Given the description of an element on the screen output the (x, y) to click on. 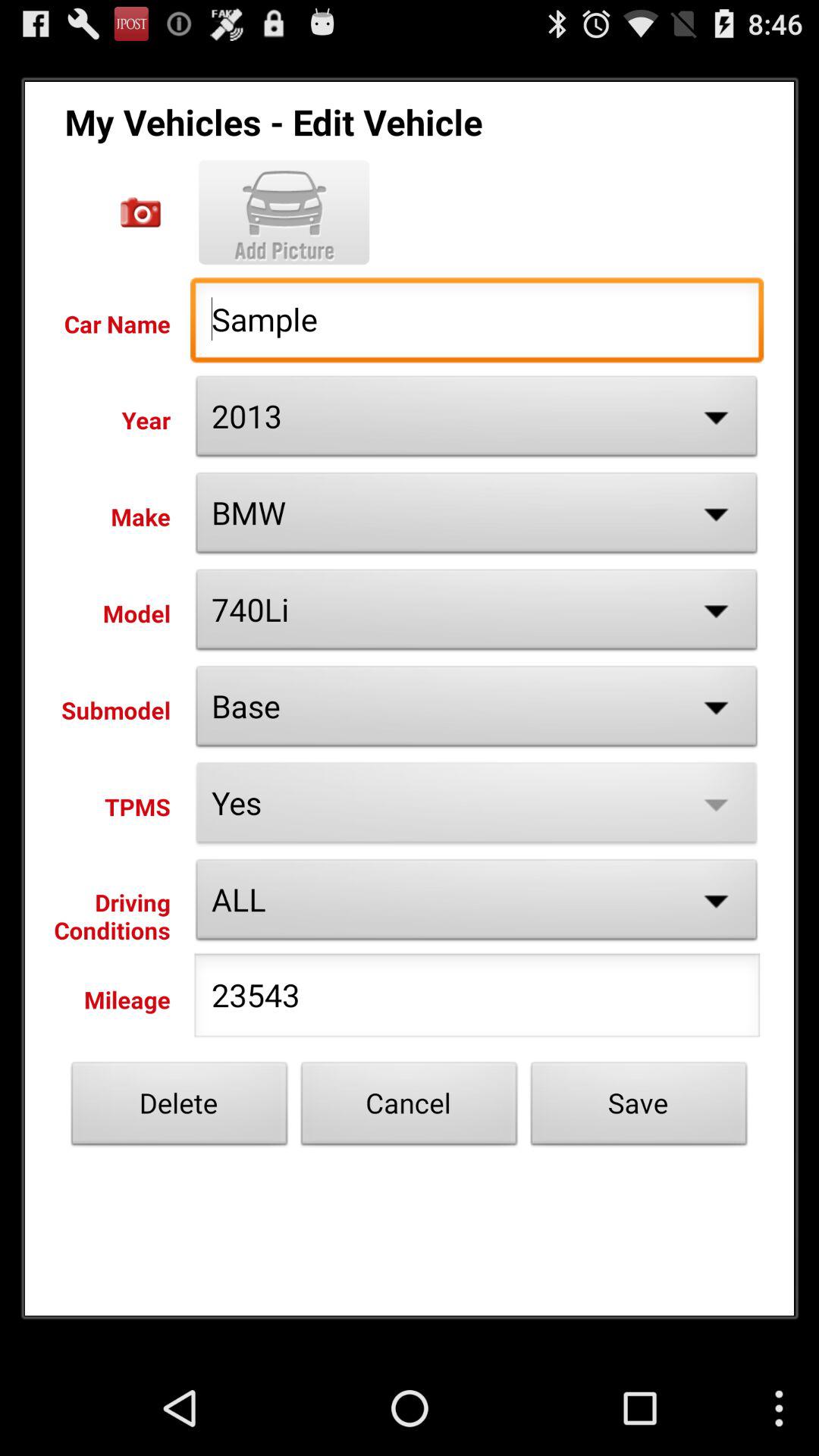
add picture (283, 212)
